Given the description of an element on the screen output the (x, y) to click on. 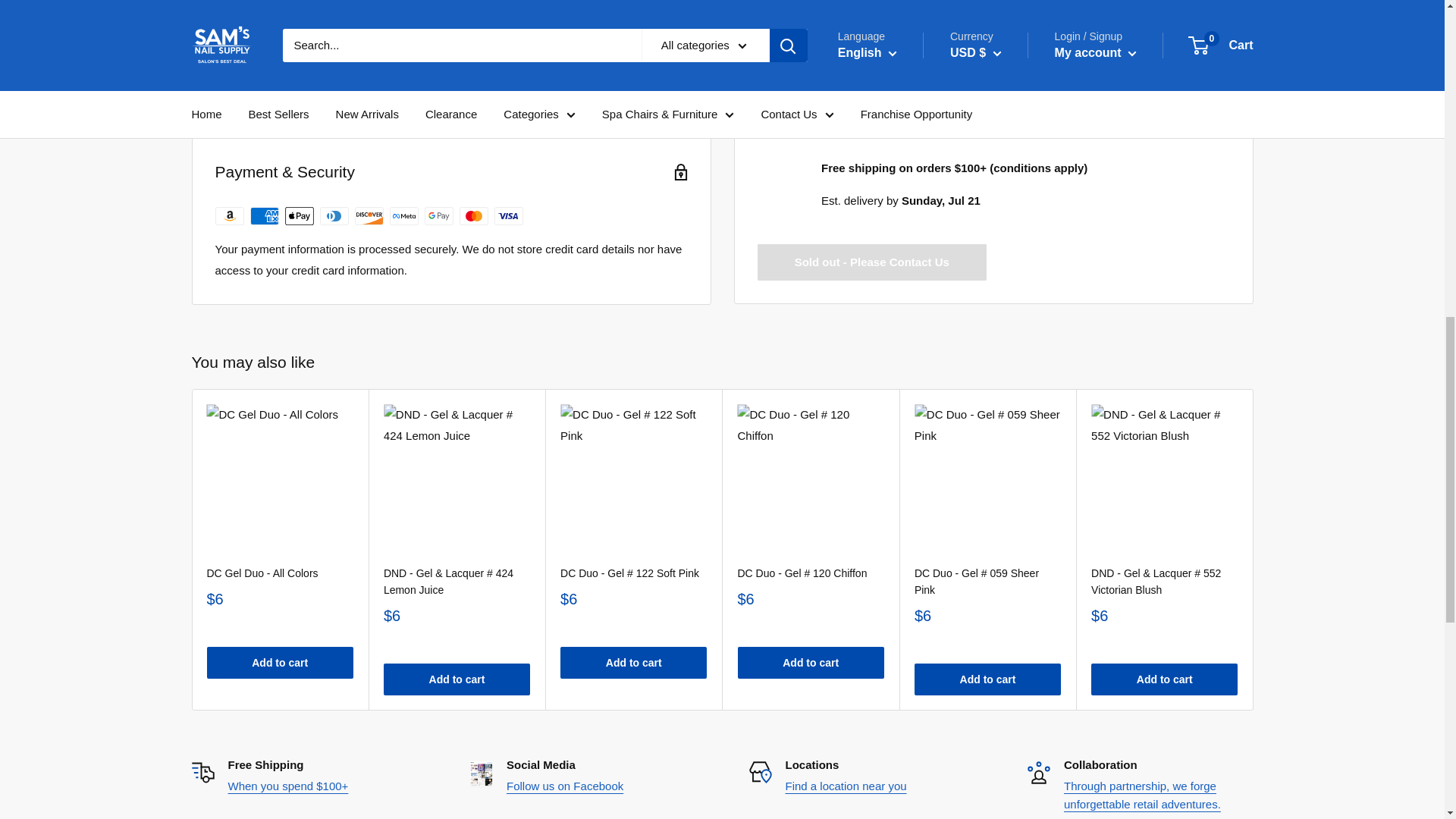
Our Locations (846, 785)
Shipping Policy (287, 785)
